Given the description of an element on the screen output the (x, y) to click on. 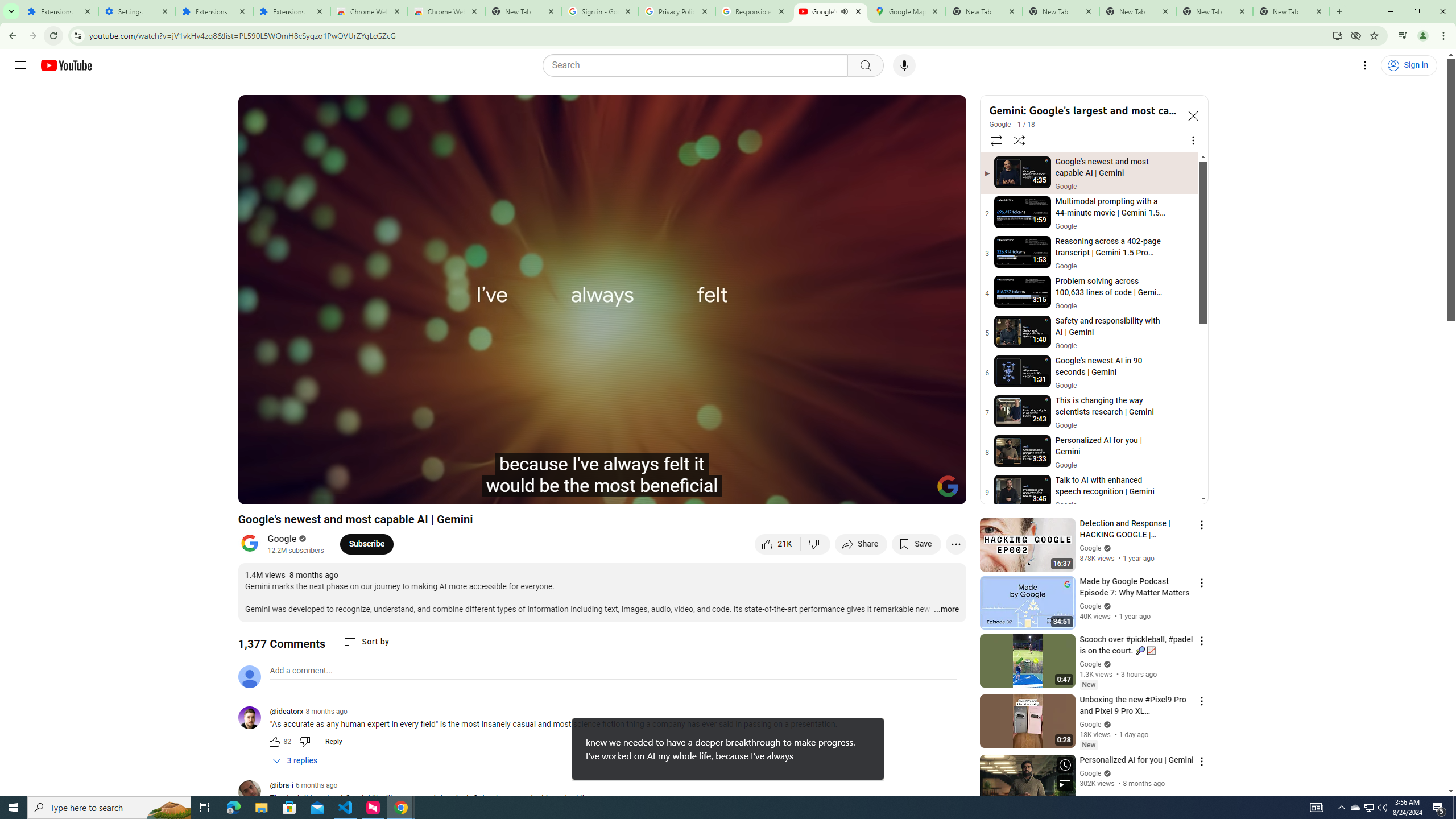
Share (861, 543)
AutomationID: simplebox-placeholder (301, 670)
Previous (SHIFT+p) (259, 490)
Sort comments (366, 641)
Theater mode (t) (917, 490)
Google Maps (906, 11)
Seek slider (601, 476)
